Given the description of an element on the screen output the (x, y) to click on. 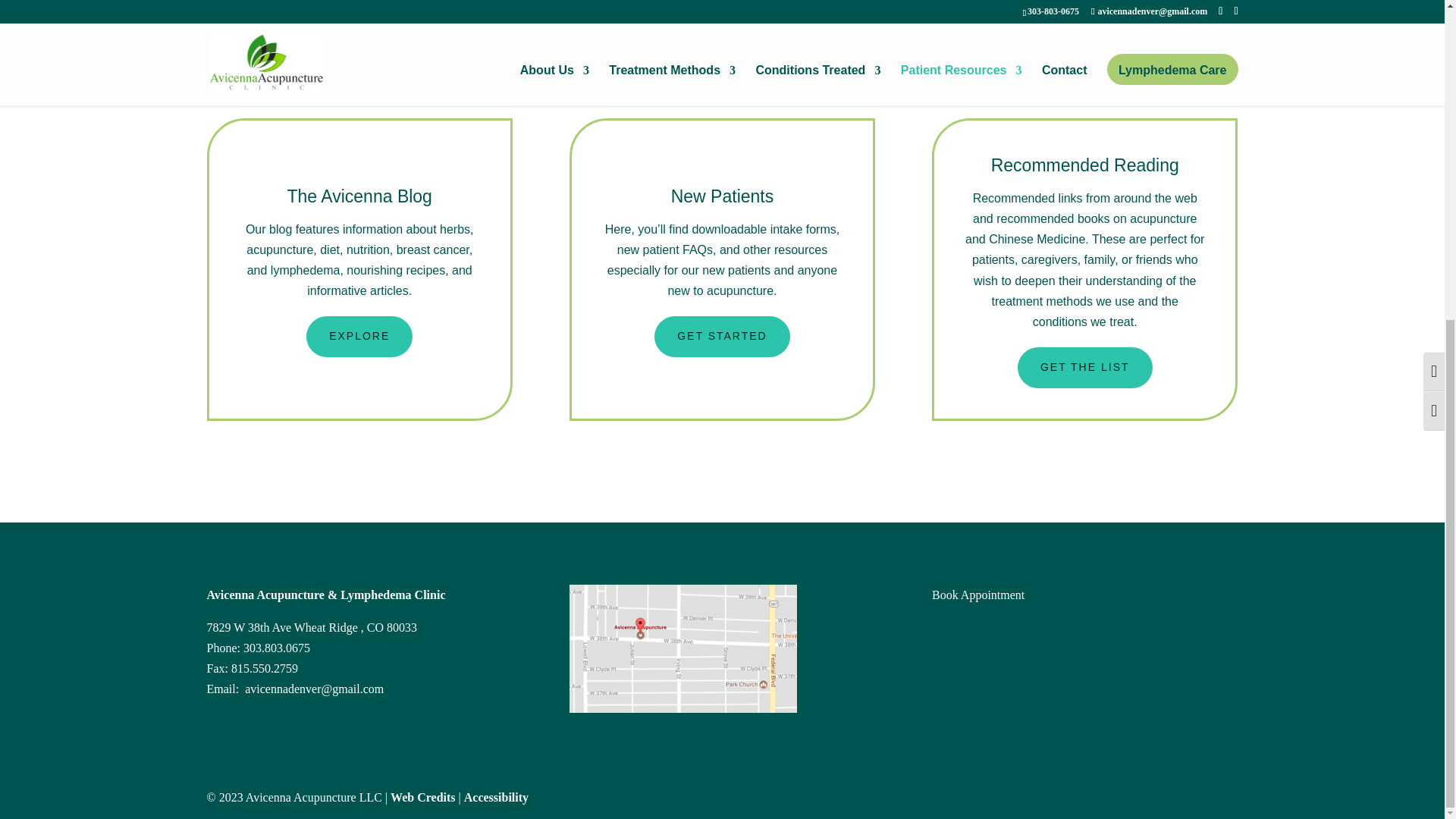
Online Scheduling (978, 594)
